Given the description of an element on the screen output the (x, y) to click on. 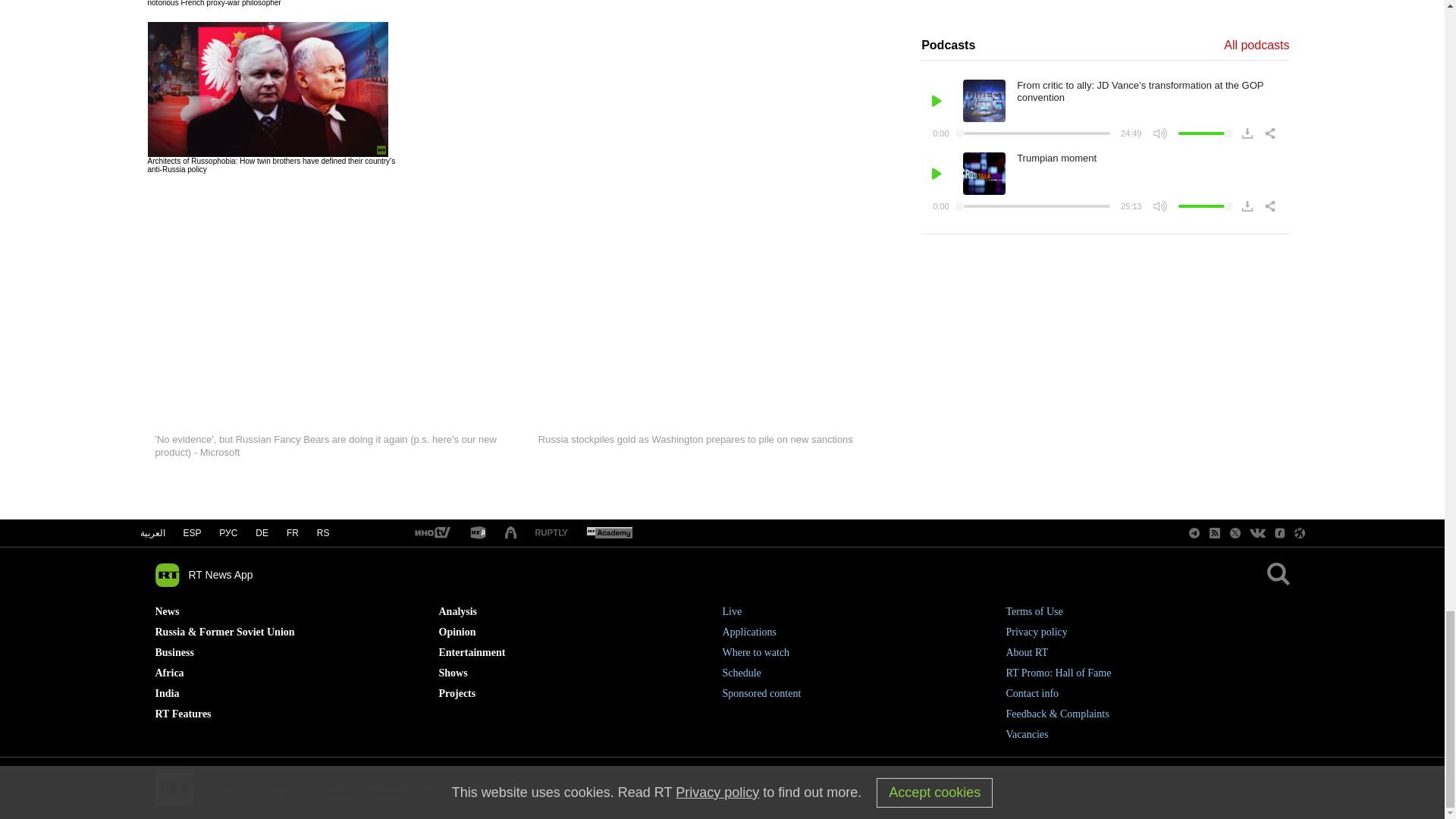
RT  (608, 533)
RT  (551, 533)
RT  (431, 533)
RT  (478, 533)
